Given the description of an element on the screen output the (x, y) to click on. 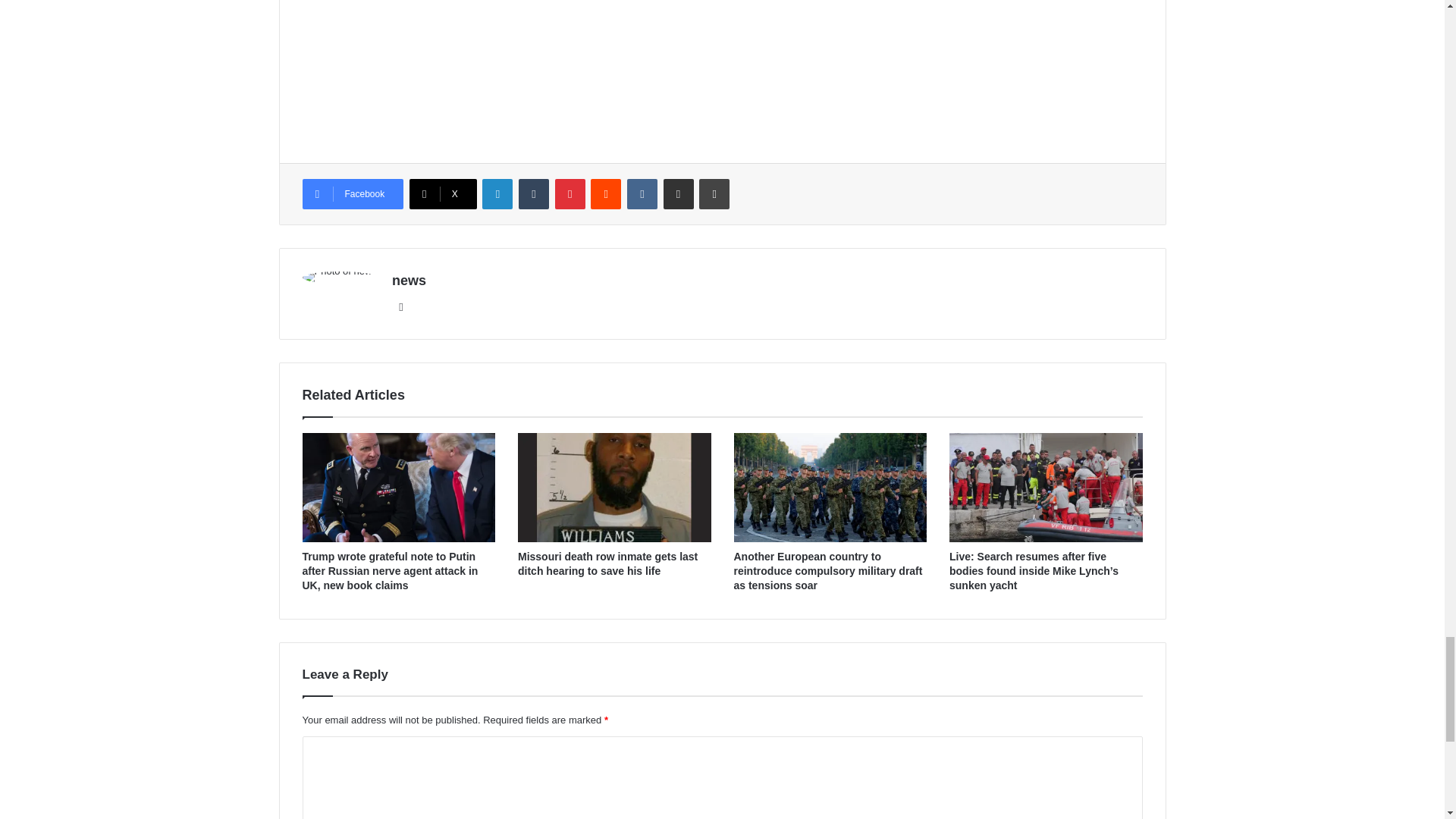
Print (713, 194)
LinkedIn (496, 194)
Reddit (606, 194)
X (443, 194)
Share via Email (678, 194)
news (408, 280)
Tumblr (533, 194)
Facebook (352, 194)
VKontakte (642, 194)
